Given the description of an element on the screen output the (x, y) to click on. 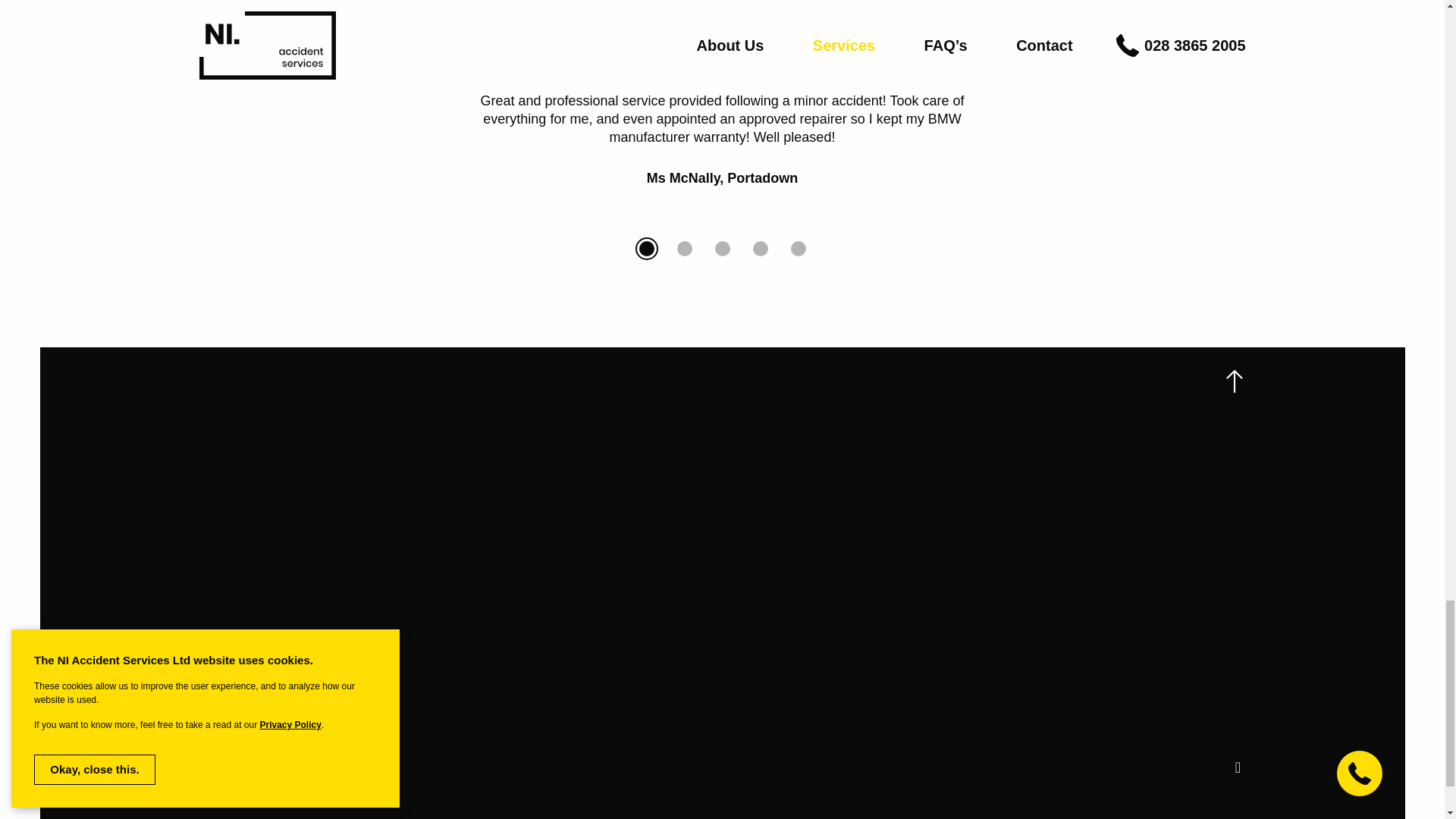
5 (797, 248)
4 (759, 248)
2 (684, 248)
1 (646, 248)
3 (721, 248)
